Given the description of an element on the screen output the (x, y) to click on. 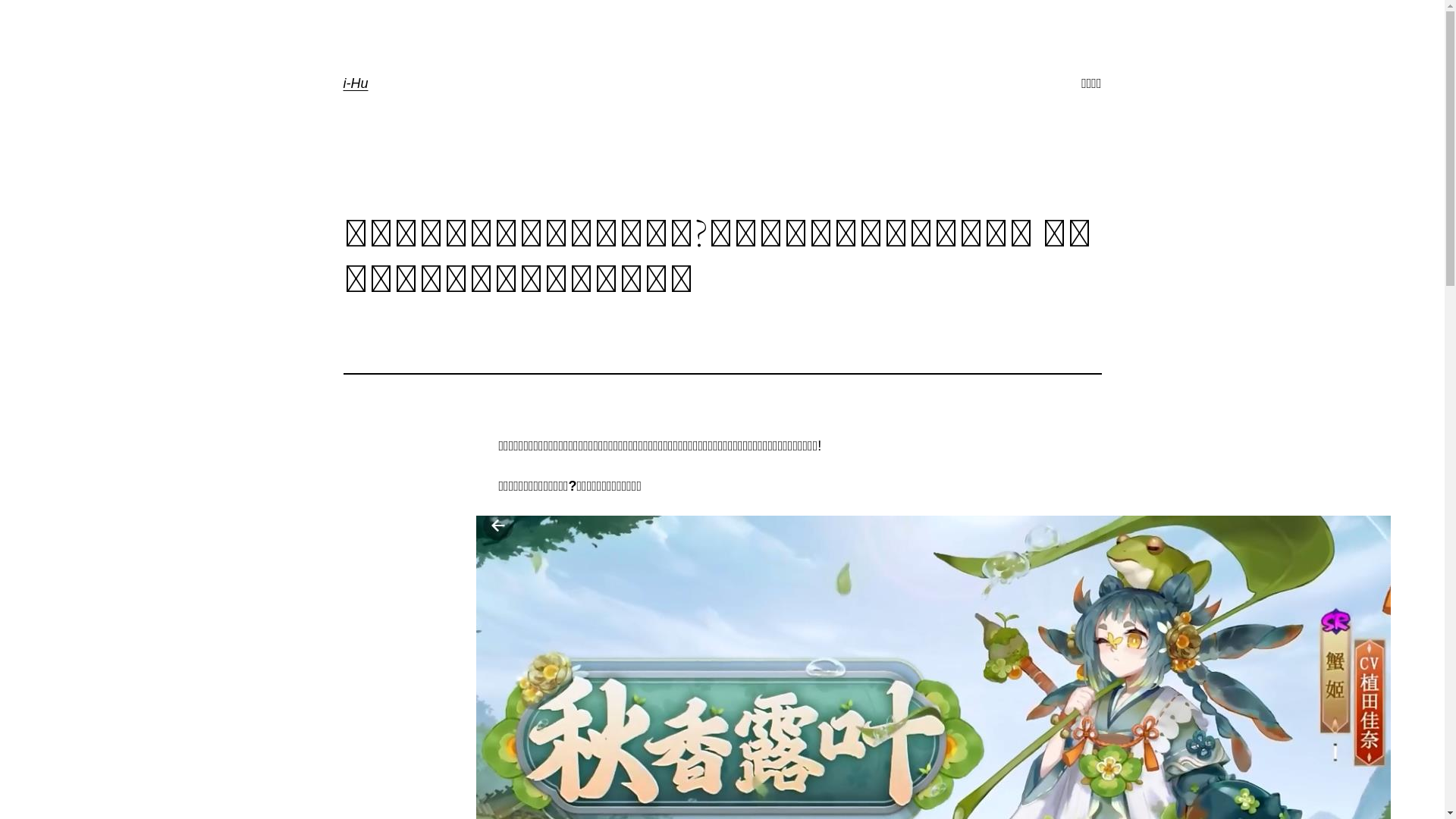
i-Hu Element type: text (354, 83)
